Given the description of an element on the screen output the (x, y) to click on. 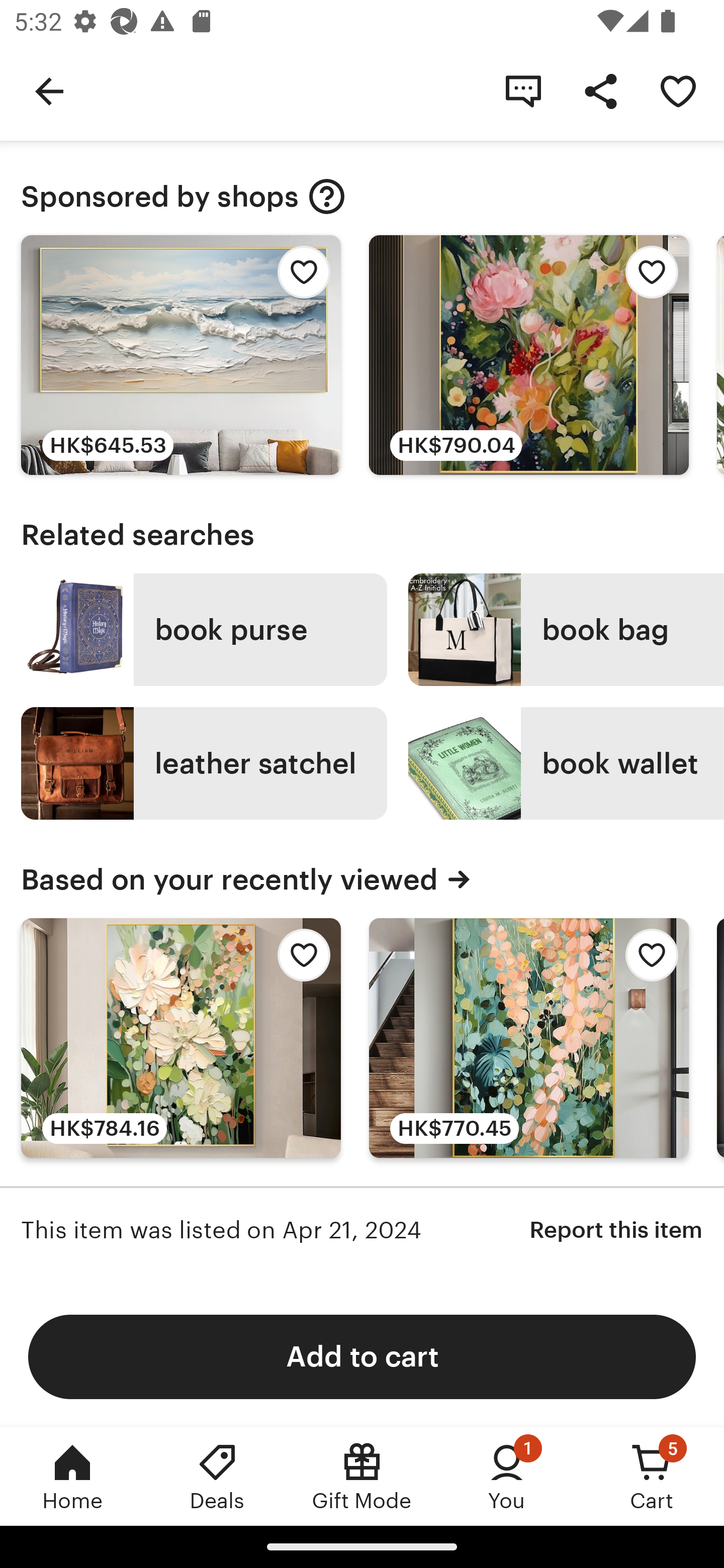
Navigate up (49, 90)
Contact shop (523, 90)
Share (600, 90)
Sponsored by shops Sponsored by shops About (362, 196)
book purse (203, 629)
book bag (566, 629)
leather satchel (203, 763)
book wallet (566, 763)
Based on your recently viewed  (362, 879)
Report this item (616, 1230)
Add to cart (361, 1355)
Deals (216, 1475)
Gift Mode (361, 1475)
You, 1 new notification You (506, 1475)
Cart, 5 new notifications Cart (651, 1475)
